Given the description of an element on the screen output the (x, y) to click on. 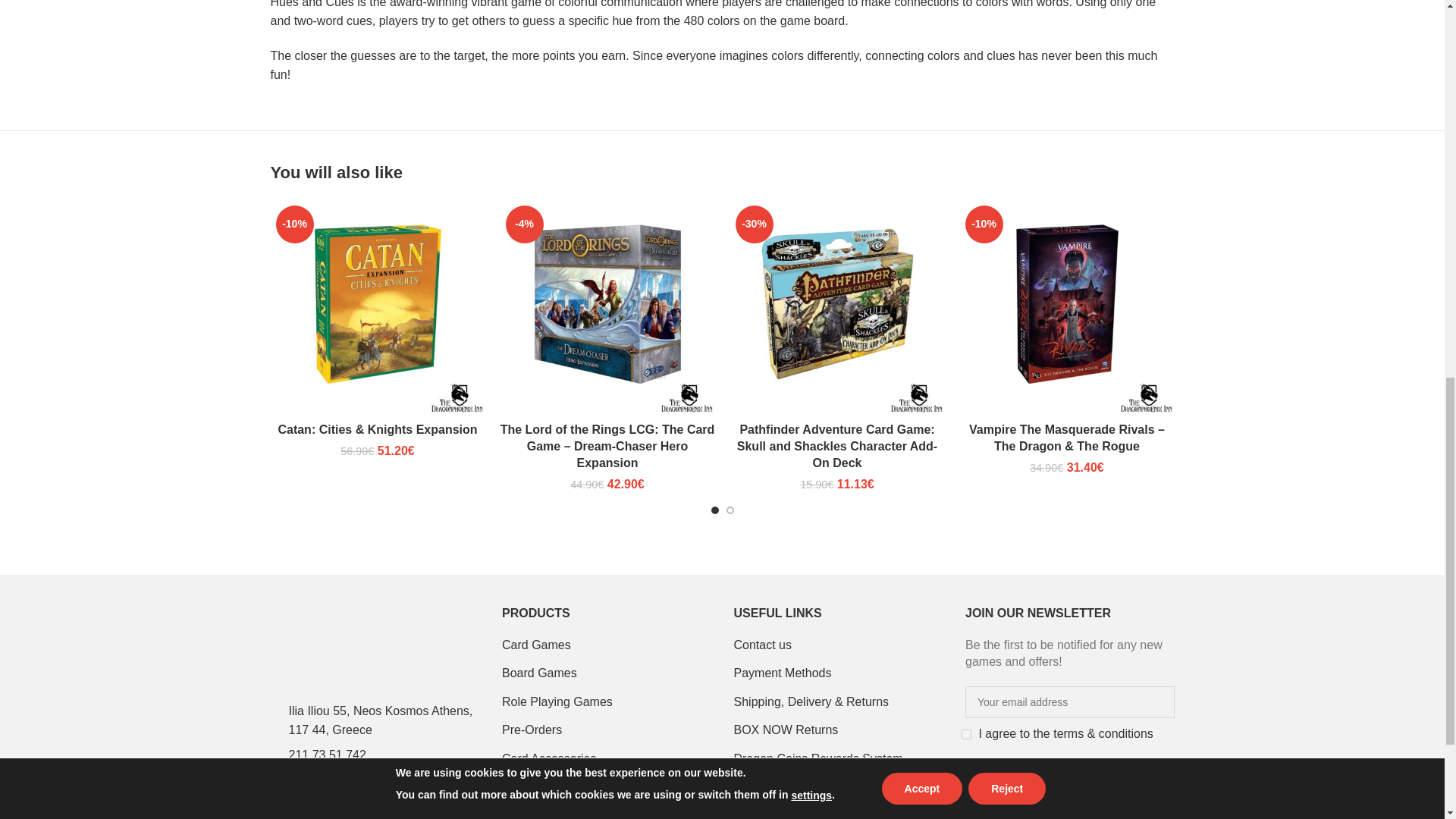
Sign up (1000, 777)
1 (965, 734)
wd-cursor-dark (275, 719)
